Given the description of an element on the screen output the (x, y) to click on. 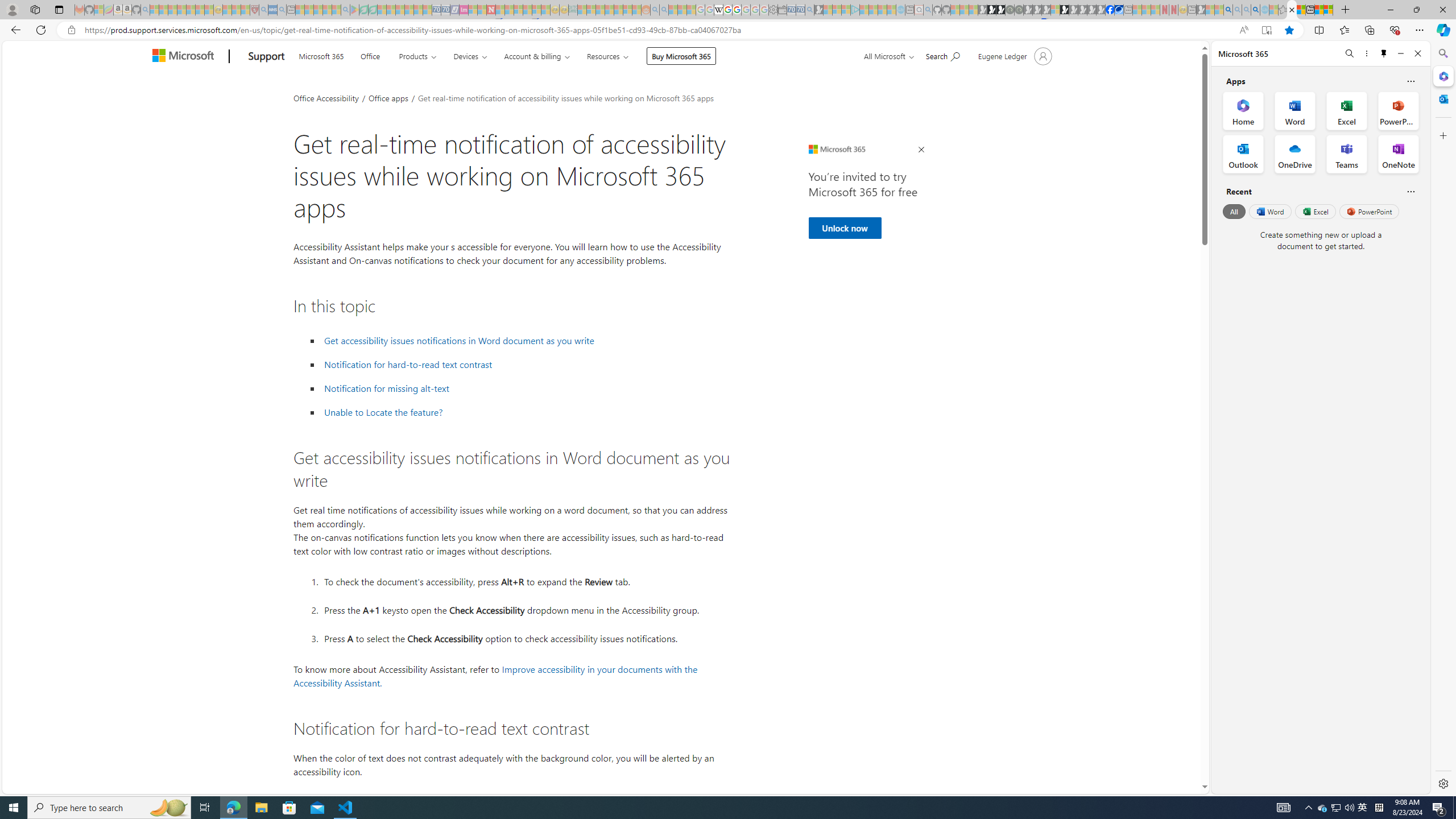
Utah sues federal government - Search - Sleeping (663, 9)
Office apps  (389, 97)
Home | Sky Blue Bikes - Sky Blue Bikes - Sleeping (900, 9)
